Given the description of an element on the screen output the (x, y) to click on. 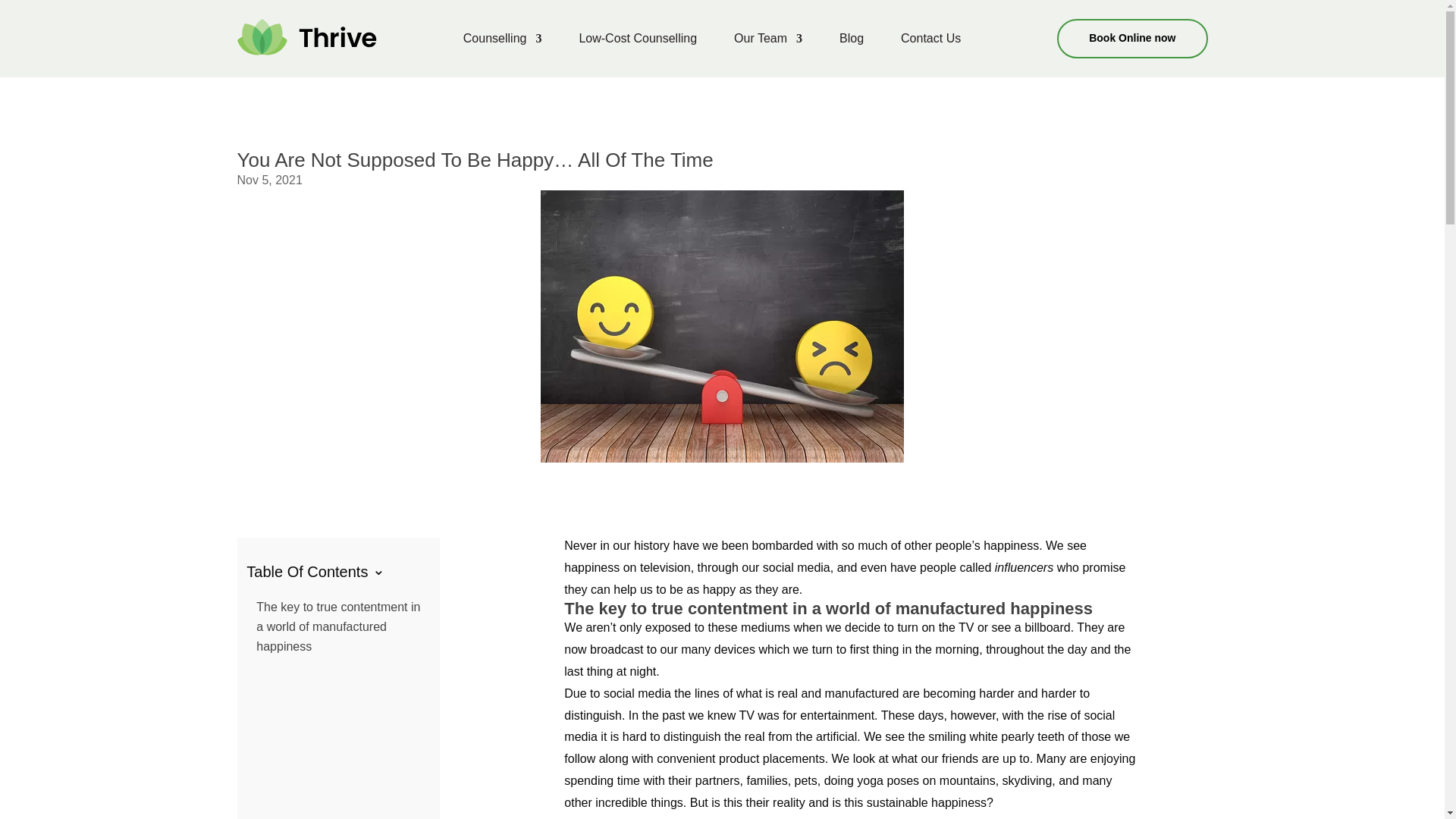
Book Online now (1132, 38)
Low-Cost Counselling (637, 41)
Contact Us (930, 41)
Our Team (767, 41)
logo (305, 36)
Counselling (502, 41)
Blog (851, 41)
